Given the description of an element on the screen output the (x, y) to click on. 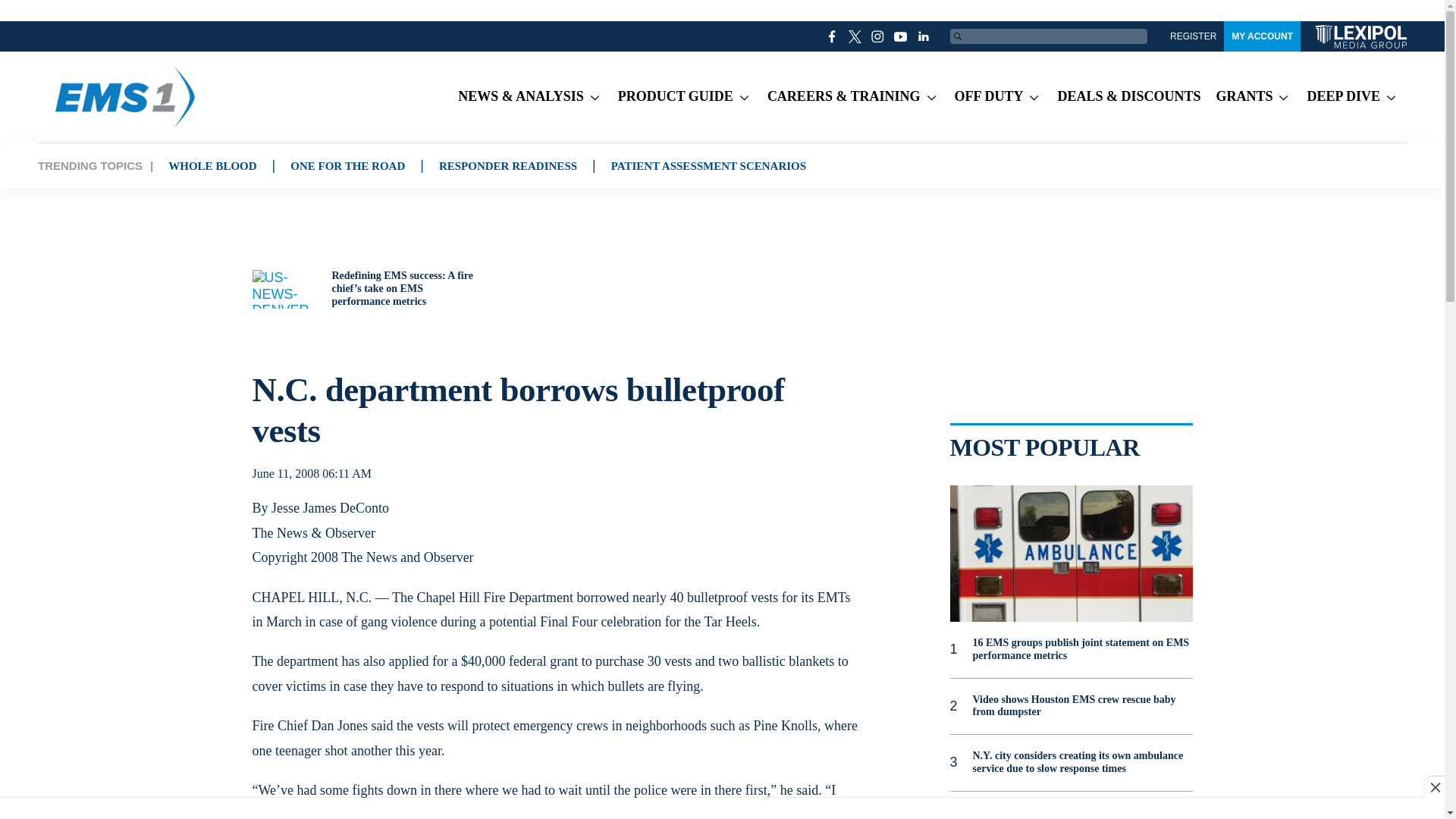
MY ACCOUNT (1262, 36)
twitter (855, 36)
REGISTER (1192, 36)
facebook (832, 36)
youtube (900, 36)
linkedin (923, 36)
instagram (877, 36)
